Given the description of an element on the screen output the (x, y) to click on. 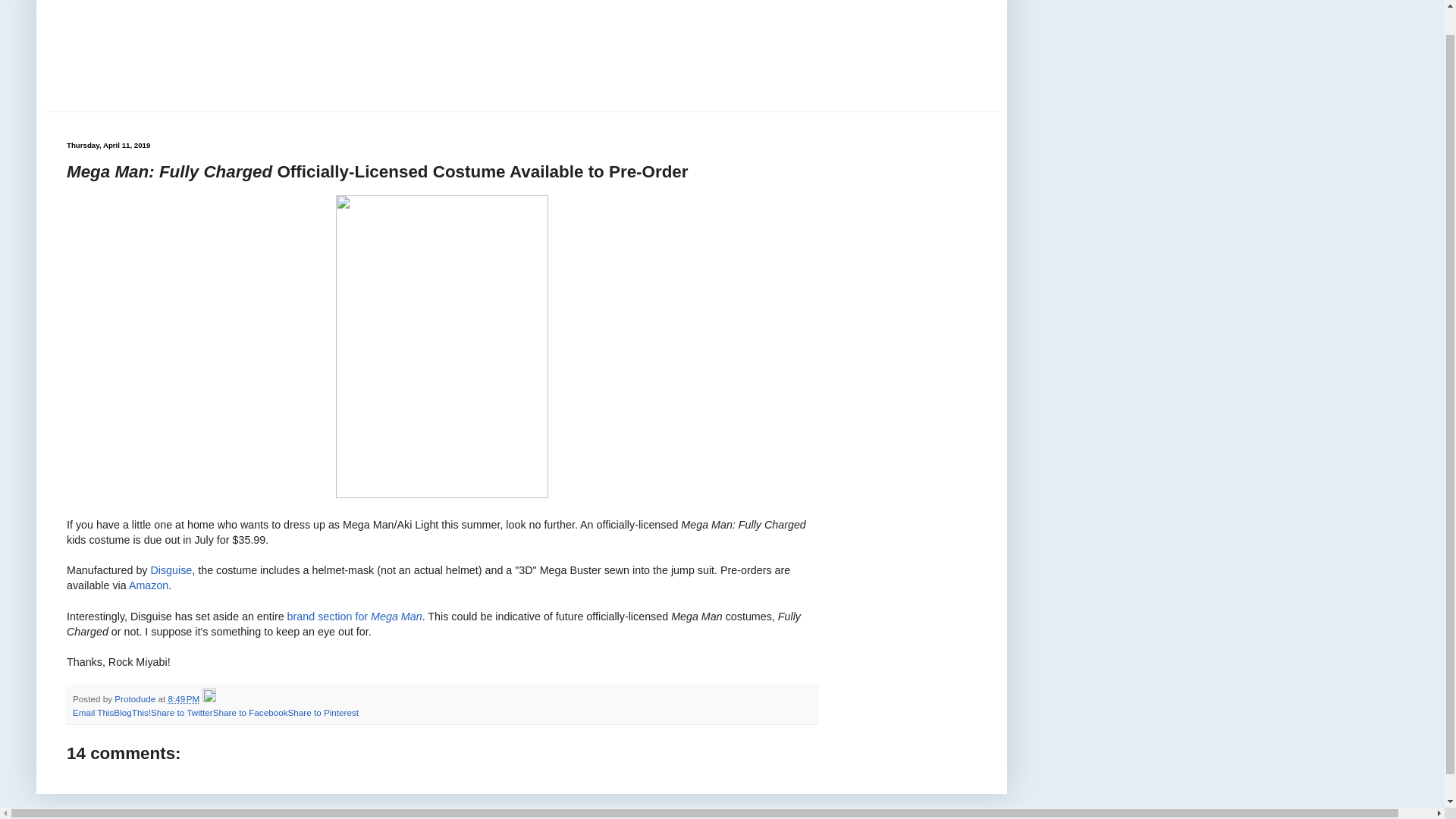
Share to Facebook (250, 712)
Share to Twitter (181, 712)
BlogThis! (132, 712)
author profile (136, 698)
Email This (92, 712)
Protodude (136, 698)
brand section for Mega Man (354, 616)
Share to Twitter (181, 712)
Disguise (170, 570)
BlogThis! (132, 712)
Amazon (148, 585)
Share to Facebook (250, 712)
Edit Post (208, 698)
Email This (92, 712)
